Given the description of an element on the screen output the (x, y) to click on. 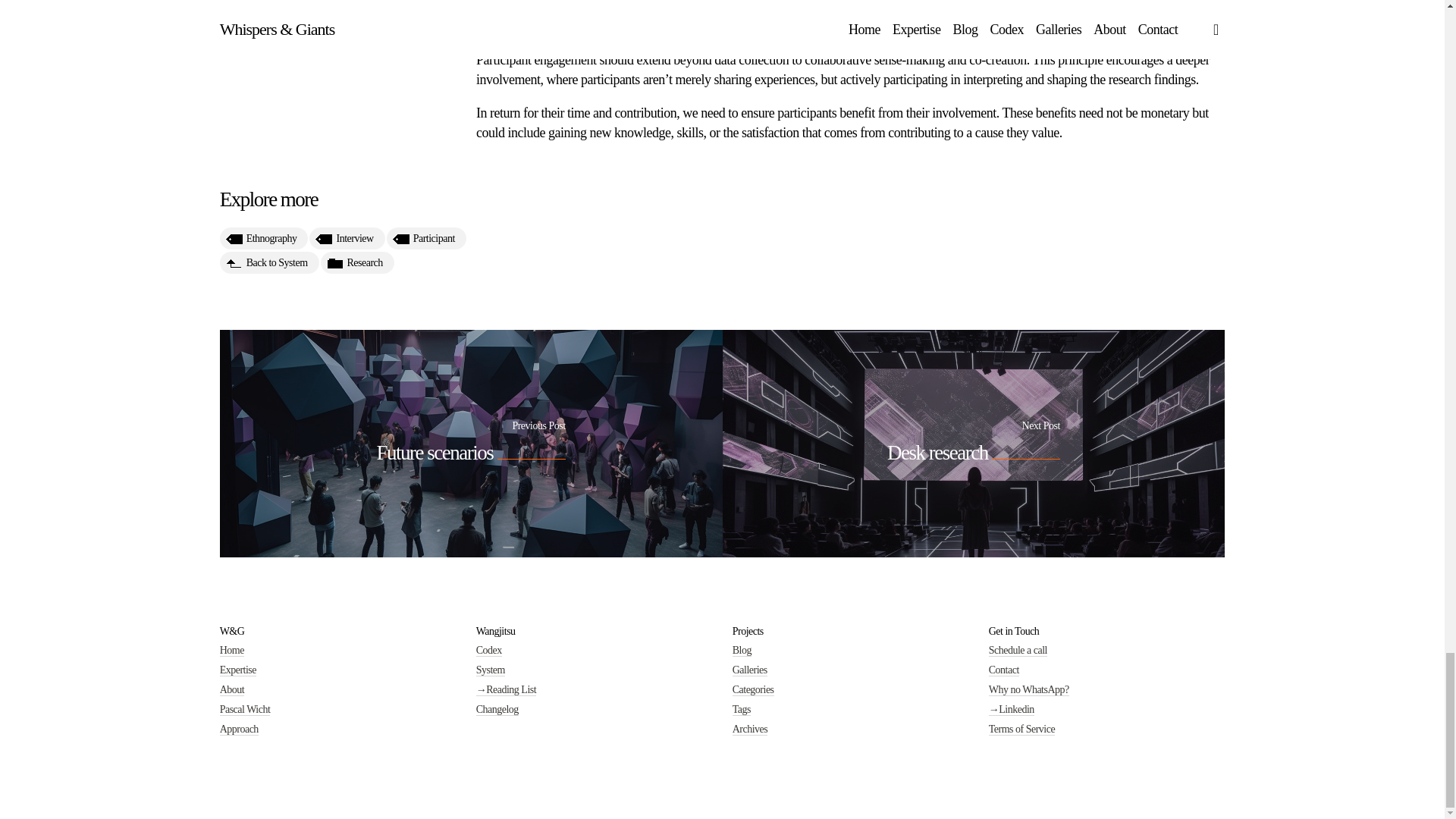
Participant (426, 255)
Interview (346, 256)
Changelog (497, 709)
About (231, 689)
Pascal Wicht (244, 709)
Research (357, 274)
Schedule a call (1017, 650)
Archives (750, 729)
Approach (239, 729)
Categories (753, 689)
Blog (741, 650)
Ethnography (263, 259)
Expertise (237, 670)
Galleries (749, 670)
Tags (741, 709)
